Given the description of an element on the screen output the (x, y) to click on. 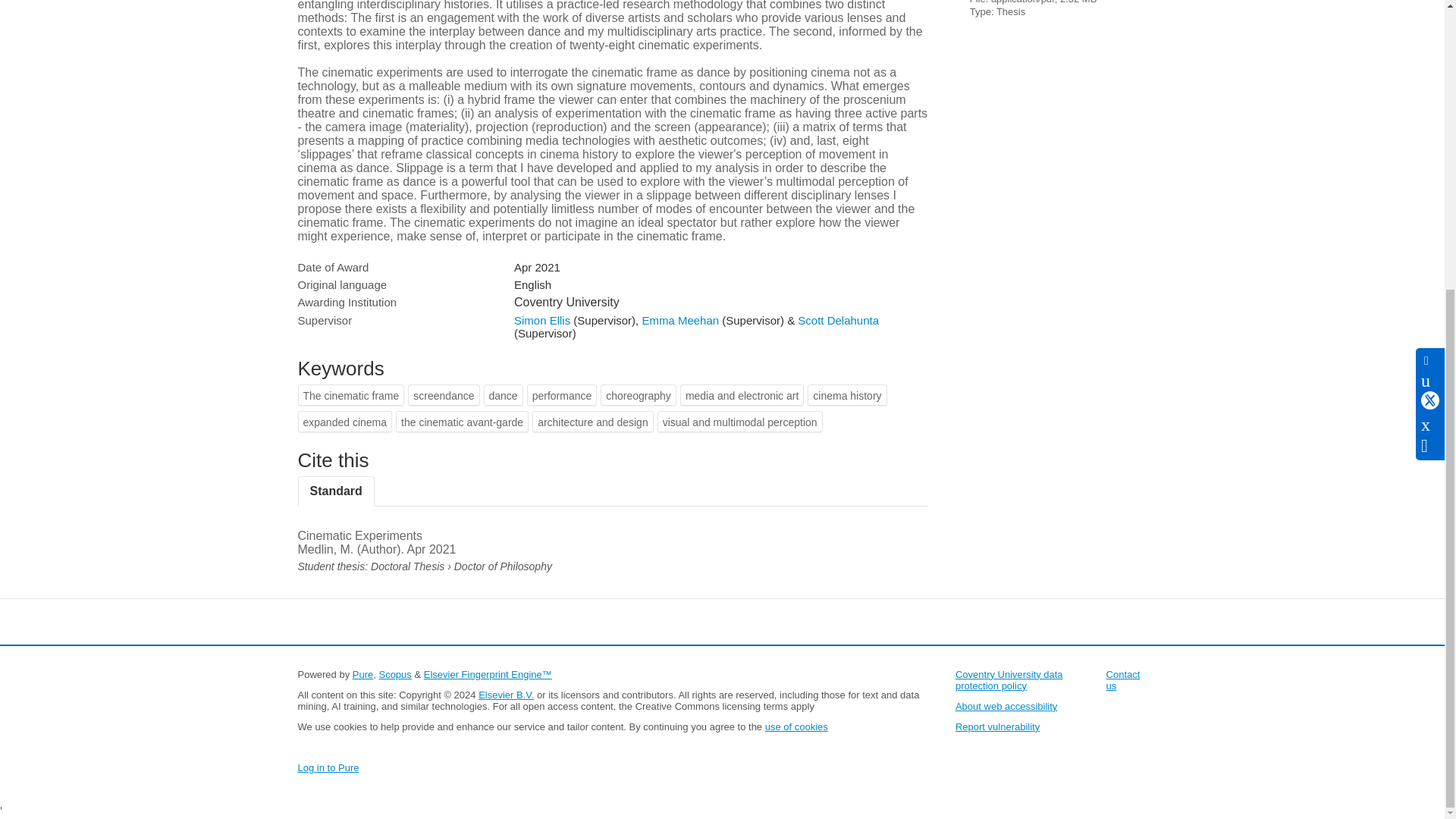
Simon Ellis (541, 319)
Report vulnerability (997, 726)
use of cookies (796, 726)
Scott Delahunta (838, 319)
Pure (362, 674)
Contact us (1123, 680)
Log in to Pure (327, 767)
Elsevier B.V. (506, 695)
About web accessibility (1006, 706)
Emma Meehan (680, 319)
Coventry University data protection policy (1008, 680)
Scopus (394, 674)
